Given the description of an element on the screen output the (x, y) to click on. 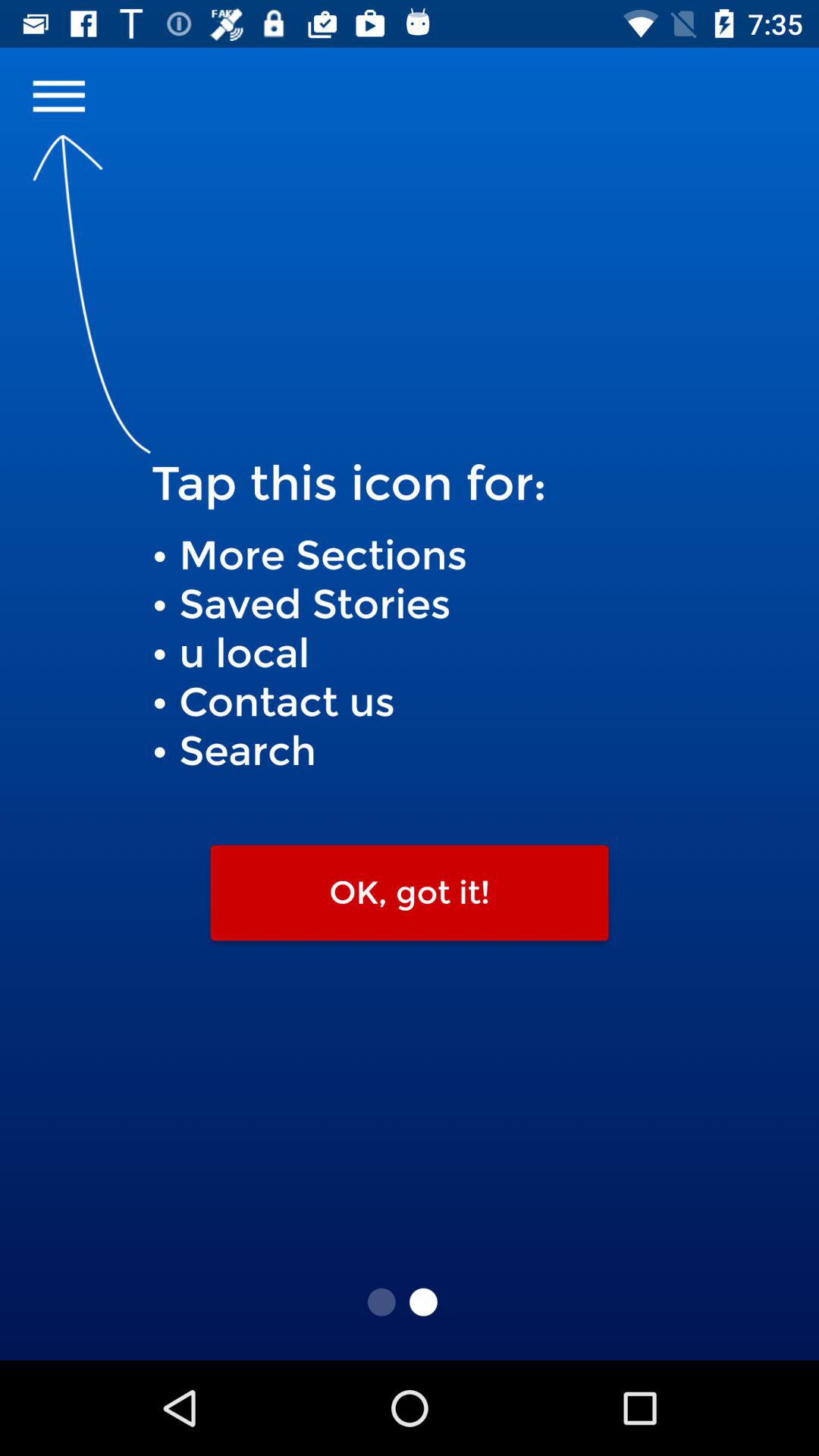
scroll until ok, got it! icon (409, 892)
